Given the description of an element on the screen output the (x, y) to click on. 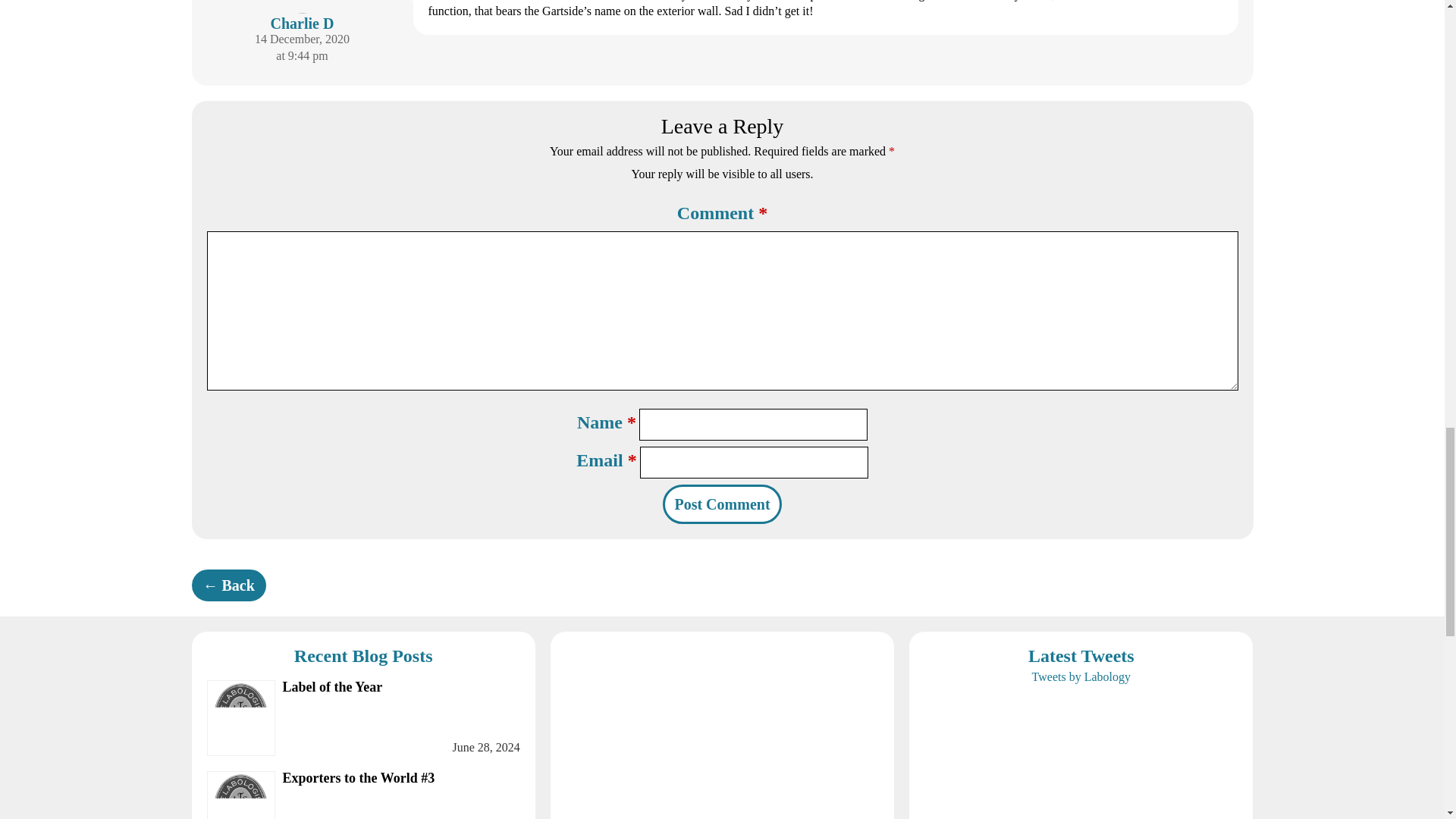
Post Comment (721, 504)
Post Comment (362, 717)
